Given the description of an element on the screen output the (x, y) to click on. 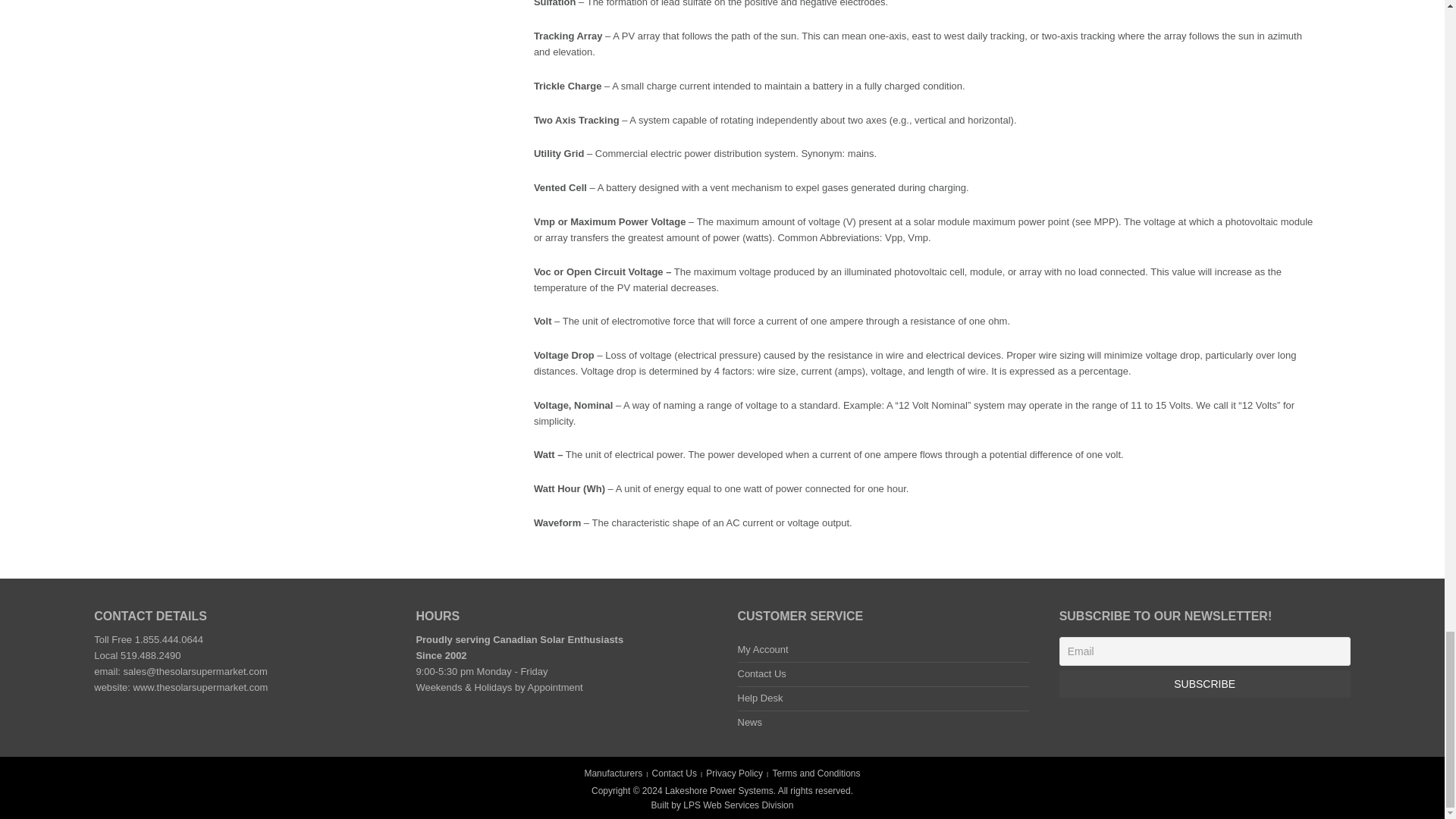
Subscribe (1205, 683)
